Given the description of an element on the screen output the (x, y) to click on. 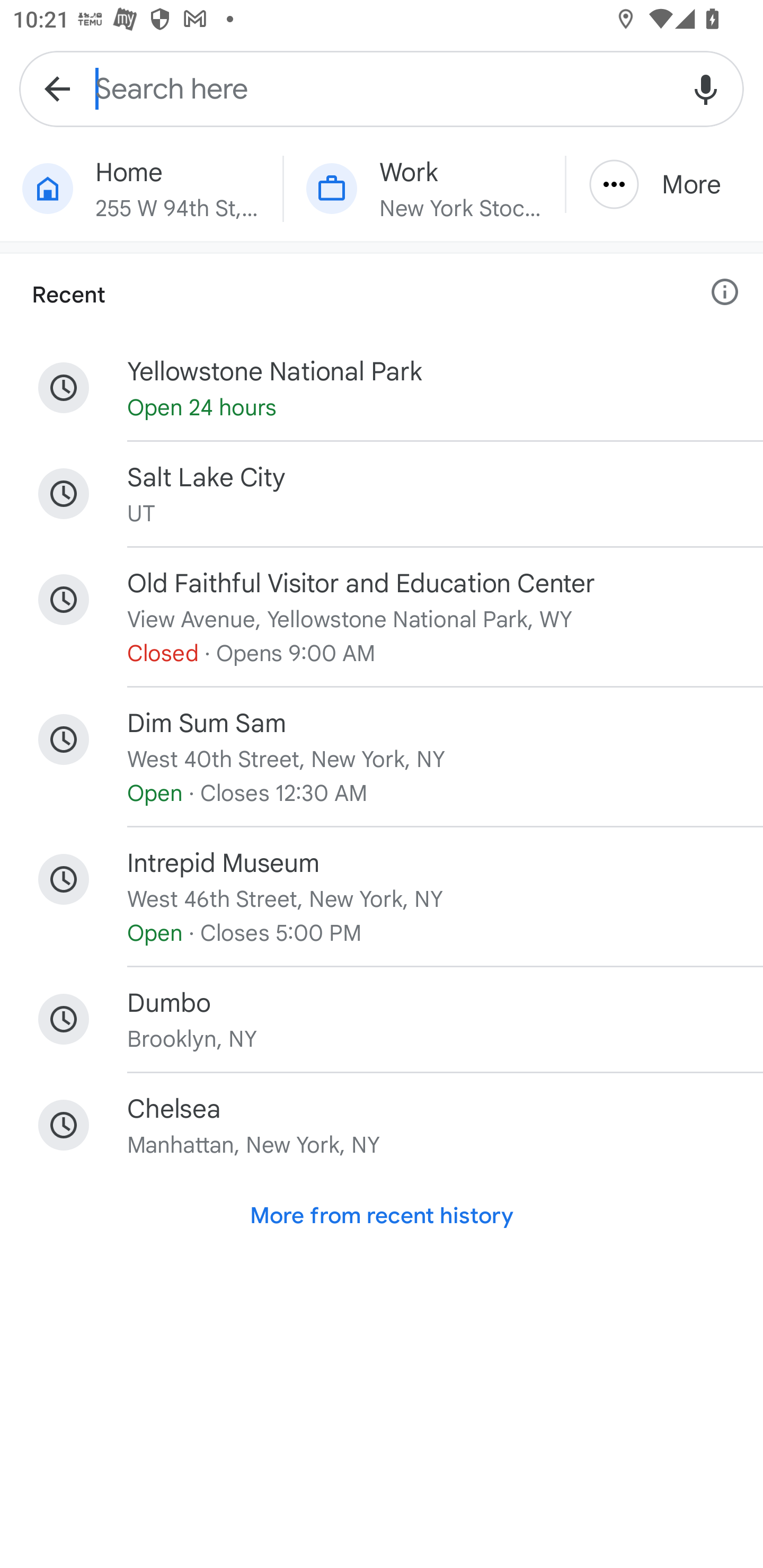
Navigate up (57, 88)
Search here (381, 88)
Voice search (705, 88)
More (664, 184)
Yellowstone National Park Open 24 hours (381, 387)
Salt Lake City UT (381, 493)
Dumbo Brooklyn, NY (381, 1018)
Chelsea Manhattan, New York, NY (381, 1124)
More from recent history (381, 1215)
